Given the description of an element on the screen output the (x, y) to click on. 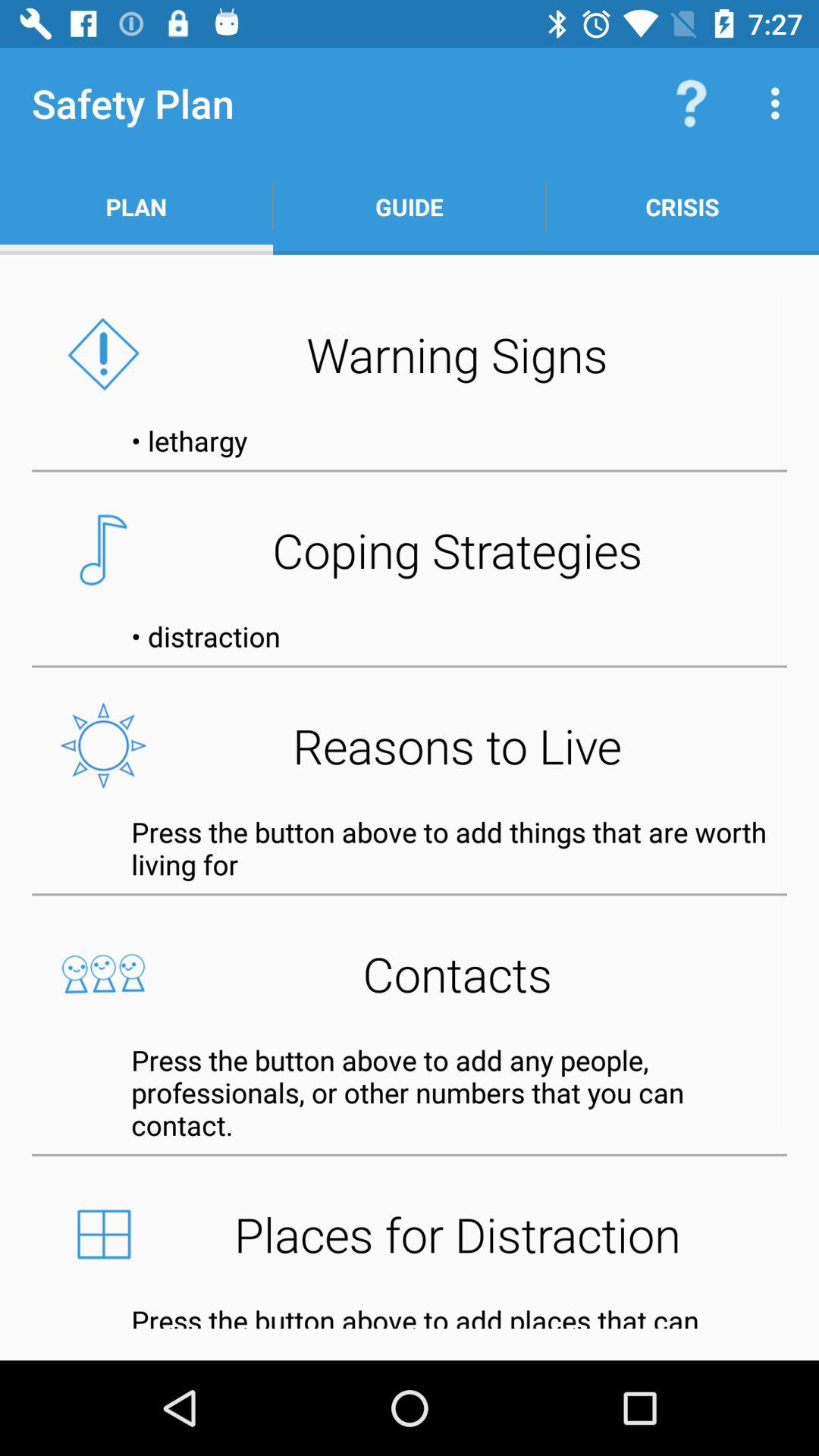
open item above press the button (409, 1233)
